Given the description of an element on the screen output the (x, y) to click on. 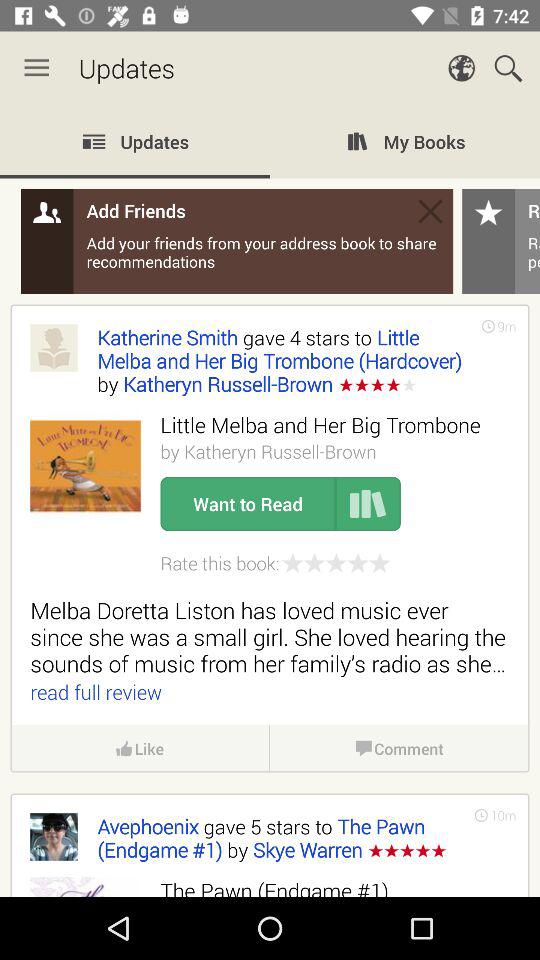
flip to the 10m icon (503, 815)
